Given the description of an element on the screen output the (x, y) to click on. 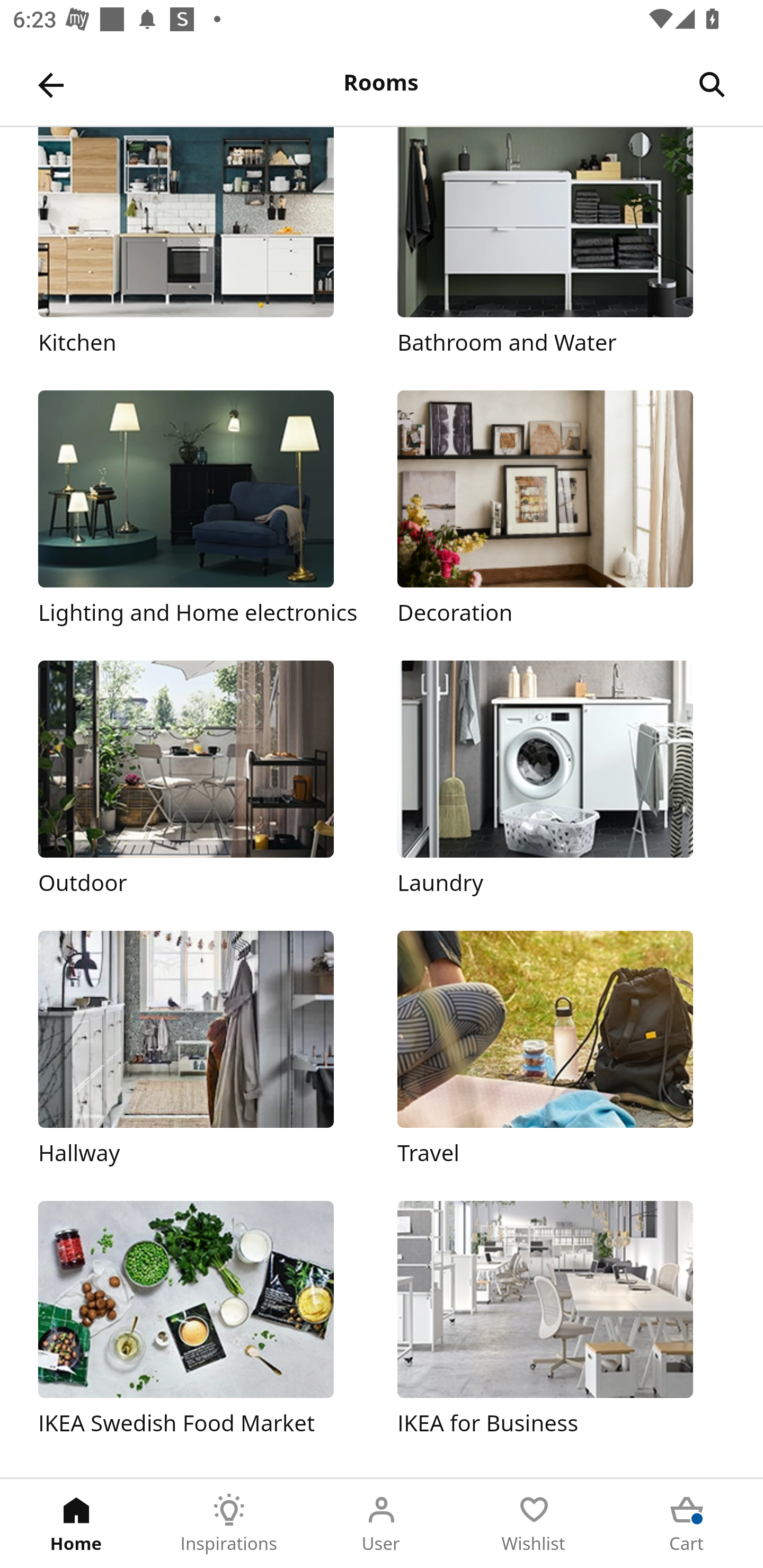
Kitchen (201, 243)
Bathroom and Water (560, 243)
Lighting and Home electronics (201, 509)
Decoration (560, 509)
Outdoor (201, 779)
Laundry (560, 779)
Hallway (201, 1050)
Travel (560, 1050)
IKEA Swedish Food Market (201, 1320)
IKEA for Business (560, 1320)
Home
Tab 1 of 5 (76, 1522)
Inspirations
Tab 2 of 5 (228, 1522)
User
Tab 3 of 5 (381, 1522)
Wishlist
Tab 4 of 5 (533, 1522)
Cart
Tab 5 of 5 (686, 1522)
